Given the description of an element on the screen output the (x, y) to click on. 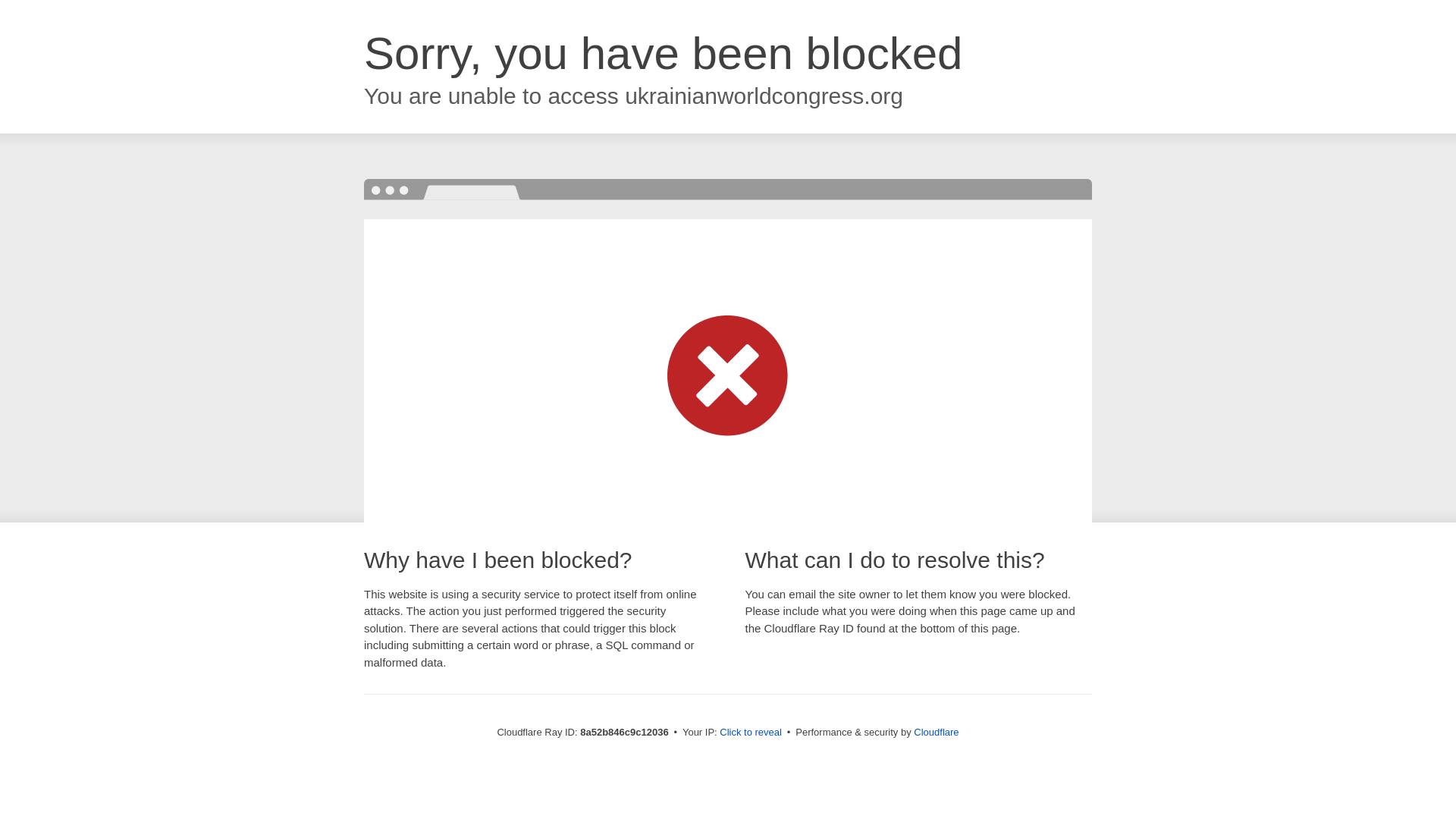
Cloudflare (936, 731)
Click to reveal (750, 732)
